Given the description of an element on the screen output the (x, y) to click on. 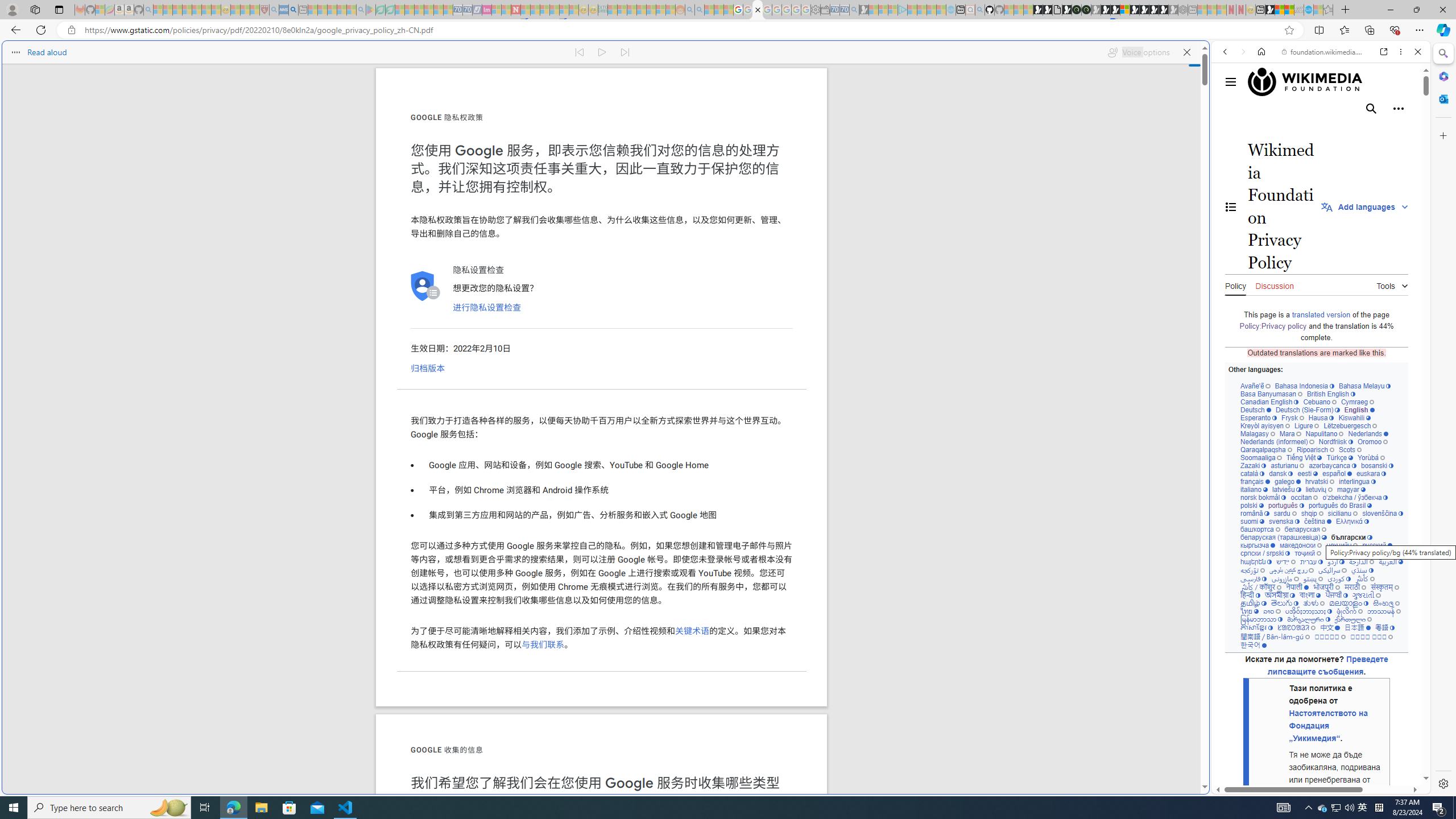
British English (1330, 393)
Oromoo (1372, 441)
Canadian English (1269, 401)
Continue to read aloud (Ctrl+Shift+U) (602, 52)
shqip (1311, 513)
Toggle the table of contents (1230, 206)
Malagasy (1257, 433)
bosanski (1376, 465)
